Given the description of an element on the screen output the (x, y) to click on. 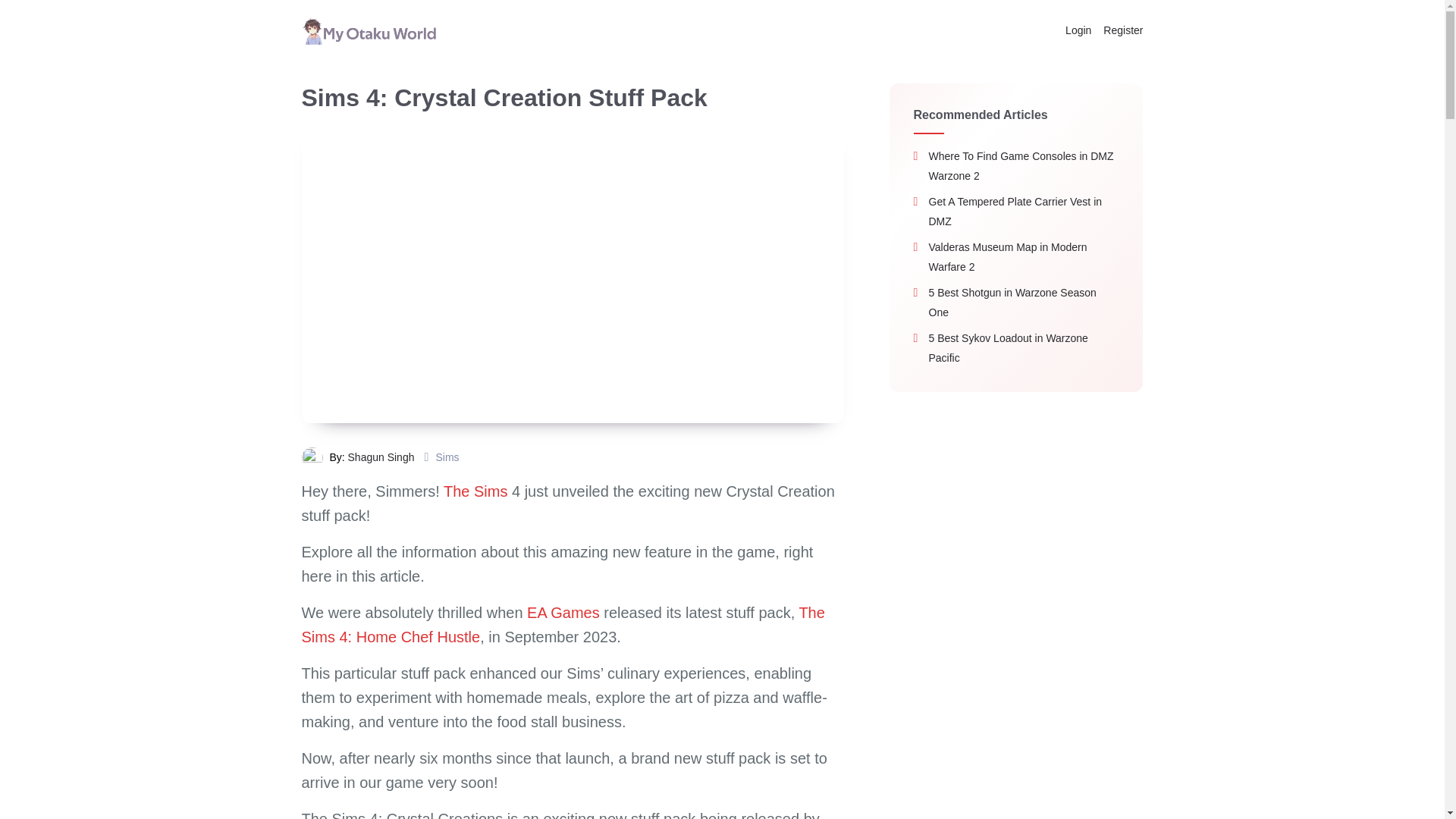
Login (1078, 29)
Register (1119, 29)
My Otaku World (369, 30)
